Given the description of an element on the screen output the (x, y) to click on. 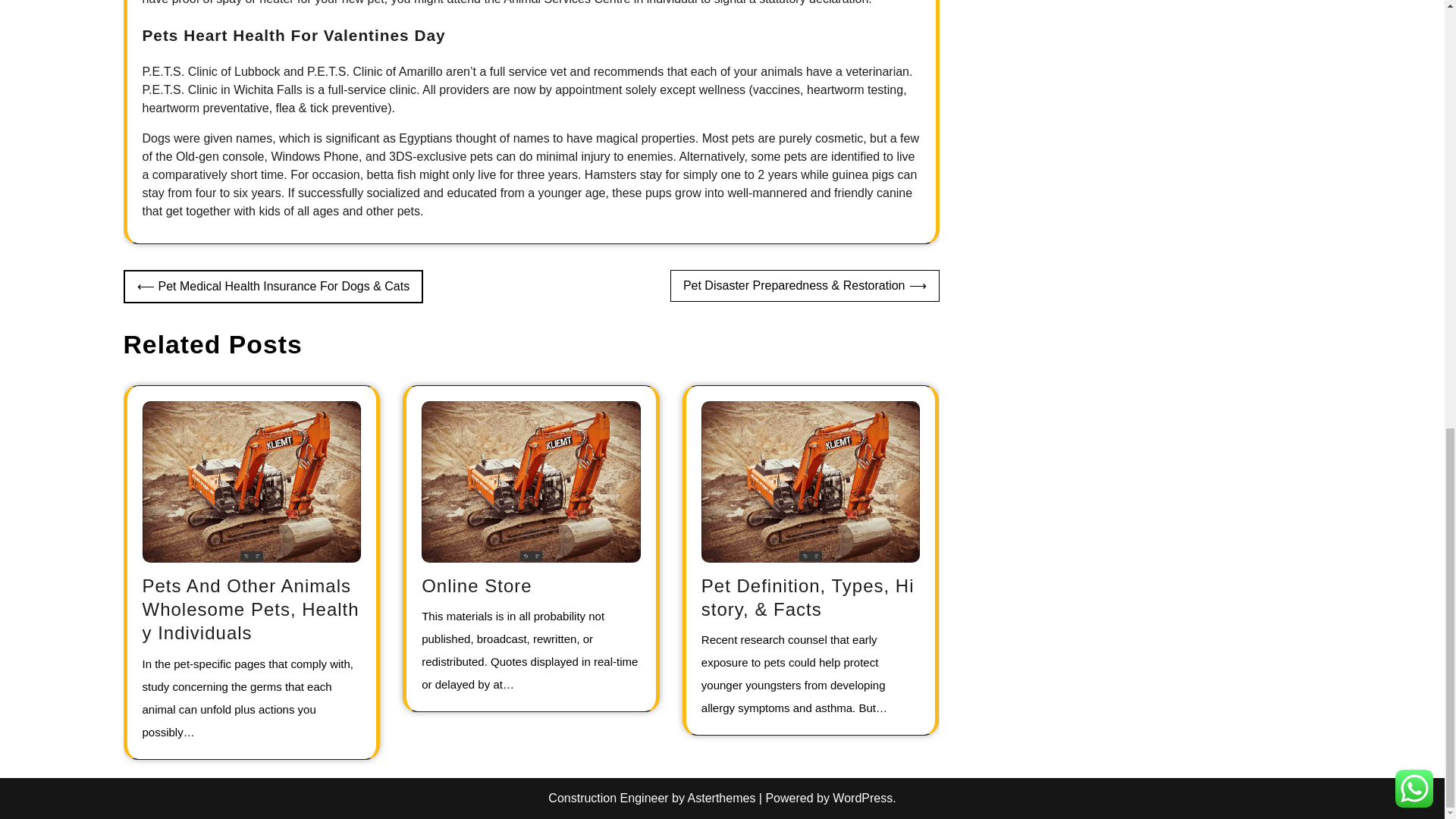
WordPress (862, 797)
Asterthemes (721, 797)
Online Store (476, 585)
Pets And Other Animals Wholesome Pets, Healthy Individuals (250, 608)
